Given the description of an element on the screen output the (x, y) to click on. 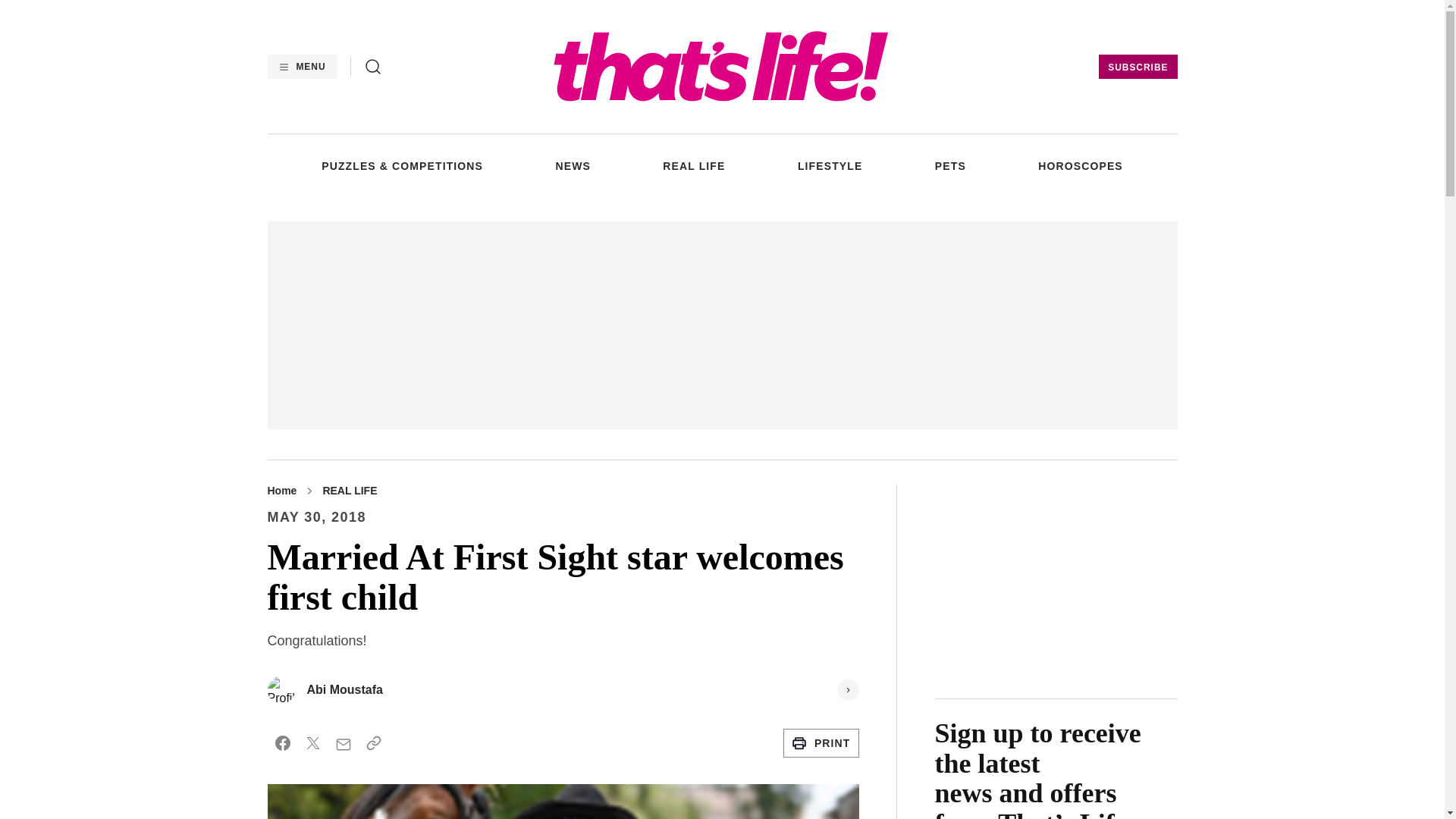
LIFESTYLE (830, 165)
SUBSCRIBE (1137, 66)
MENU (301, 66)
REAL LIFE (693, 165)
HOROSCOPES (1080, 165)
NEWS (571, 165)
PETS (950, 165)
